Given the description of an element on the screen output the (x, y) to click on. 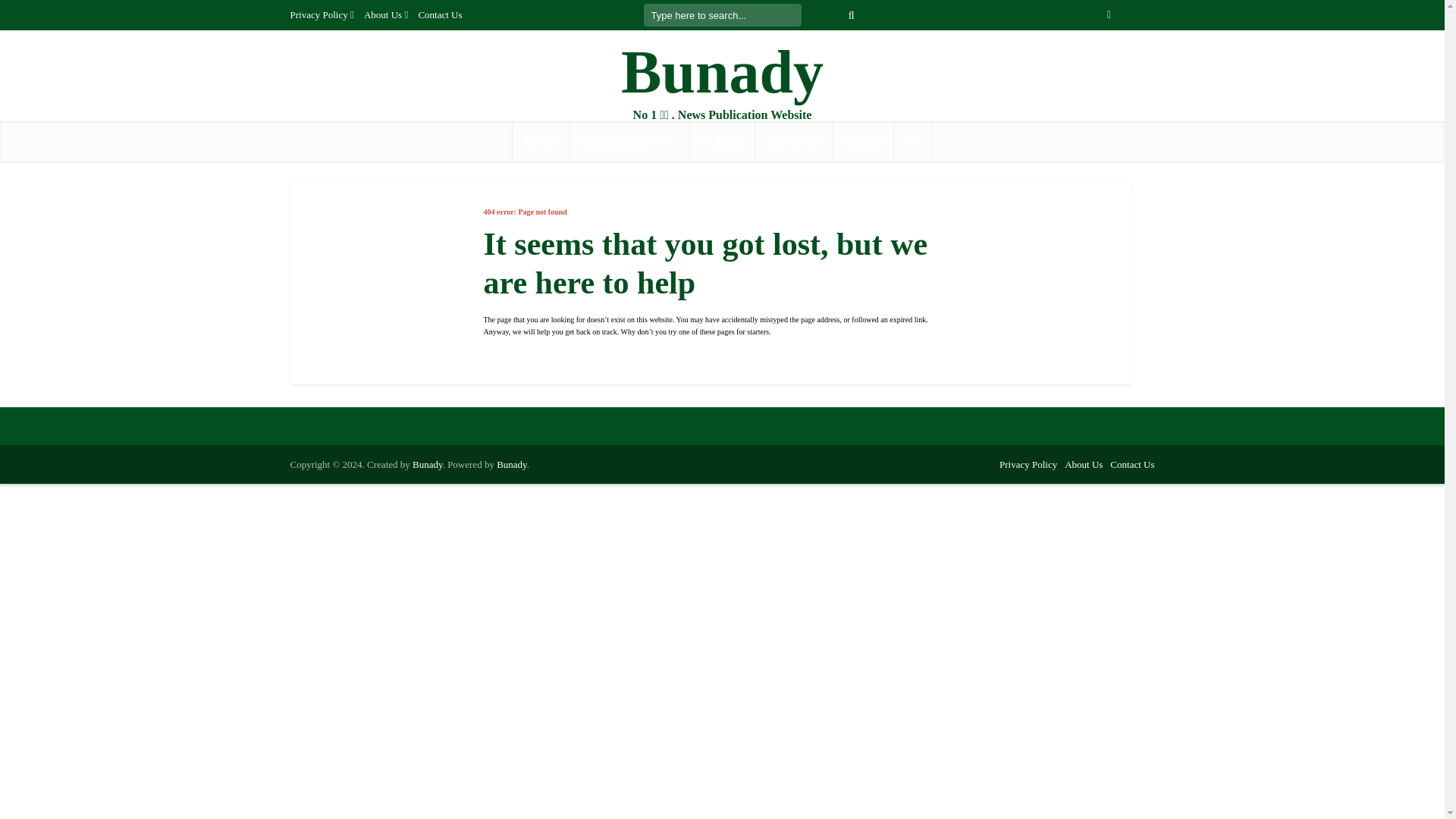
About Us (1083, 464)
Privacy Policy (1027, 464)
Contact Us (1131, 464)
Contact Us (439, 14)
Home (541, 141)
Bunady (722, 71)
Sports (862, 141)
Life Style (794, 141)
Bunady (511, 464)
Politics (722, 141)
